Given the description of an element on the screen output the (x, y) to click on. 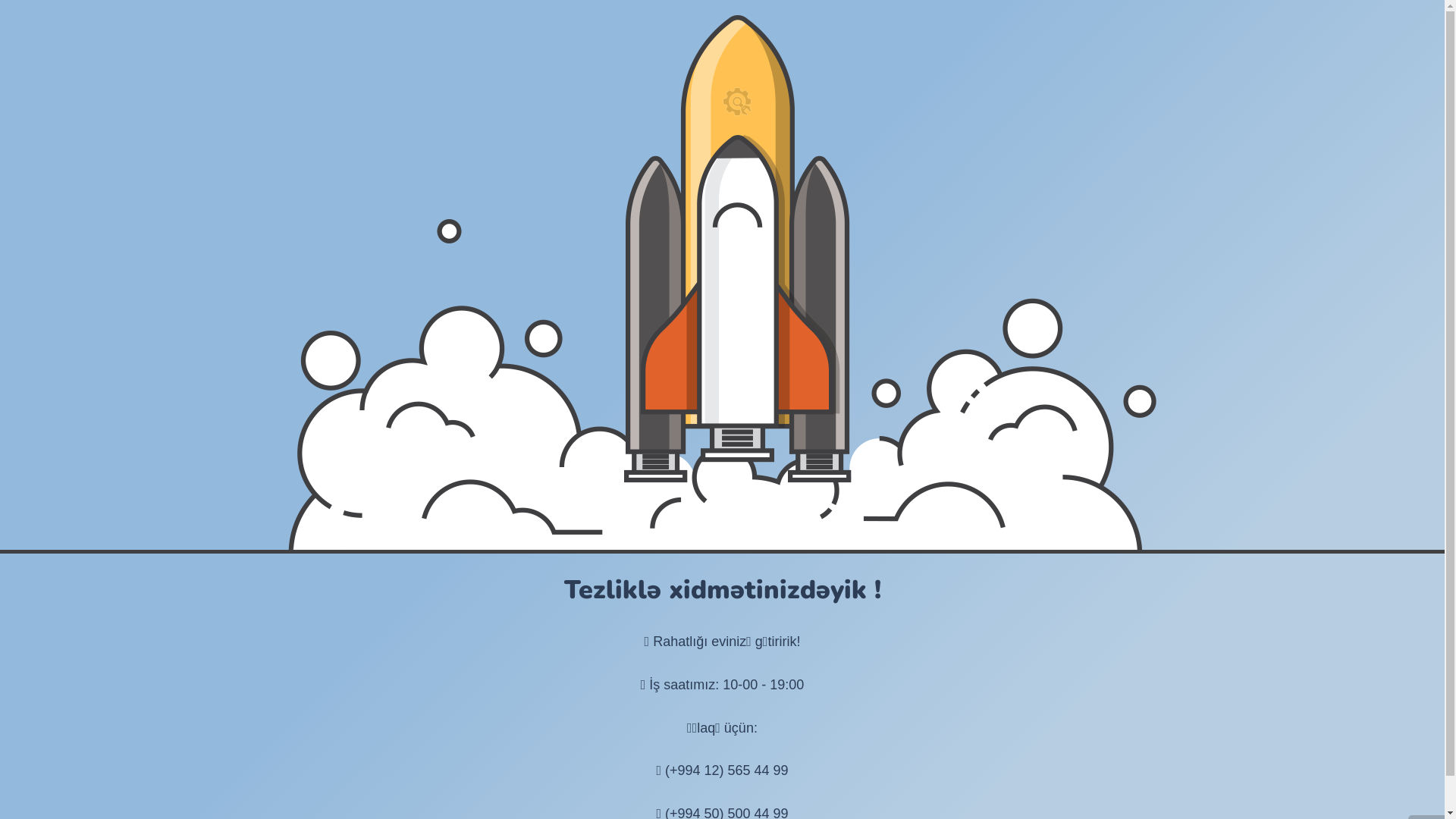
Rocket Launch Element type: hover (722, 282)
